Given the description of an element on the screen output the (x, y) to click on. 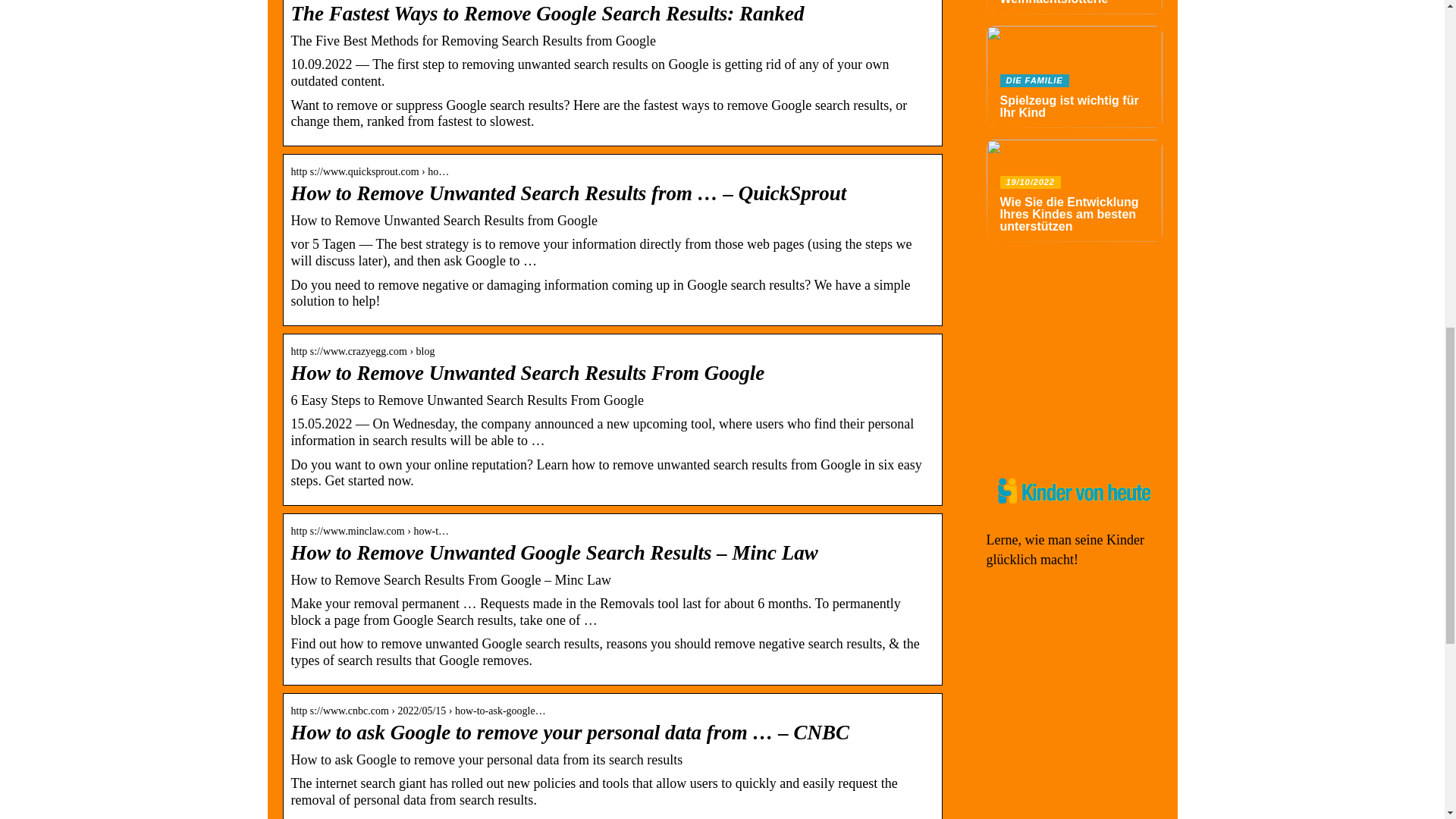
Gesundheit (1039, 393)
Baby (1022, 294)
Spielzeug (1035, 353)
Do it yourself (1046, 334)
Das Zuhause (1043, 373)
Lifestyle (1033, 412)
Informationen (1047, 432)
Kinder (1027, 314)
Die Familie (1041, 274)
